Given the description of an element on the screen output the (x, y) to click on. 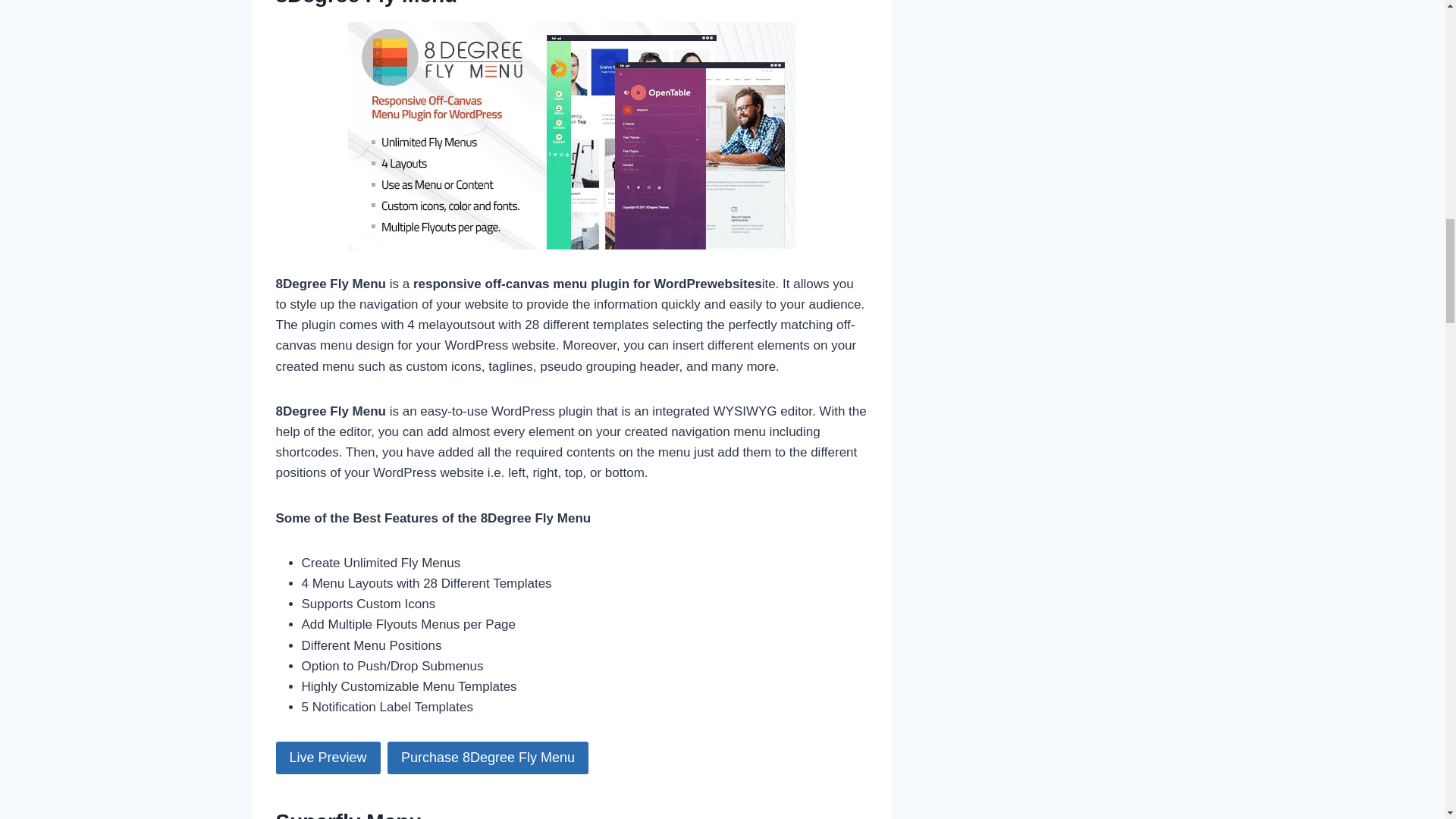
Live Preview (328, 757)
8Degree Fly Menu (367, 3)
Purchase 8Degree Fly Menu (487, 757)
Superfly Menu (349, 814)
